Given the description of an element on the screen output the (x, y) to click on. 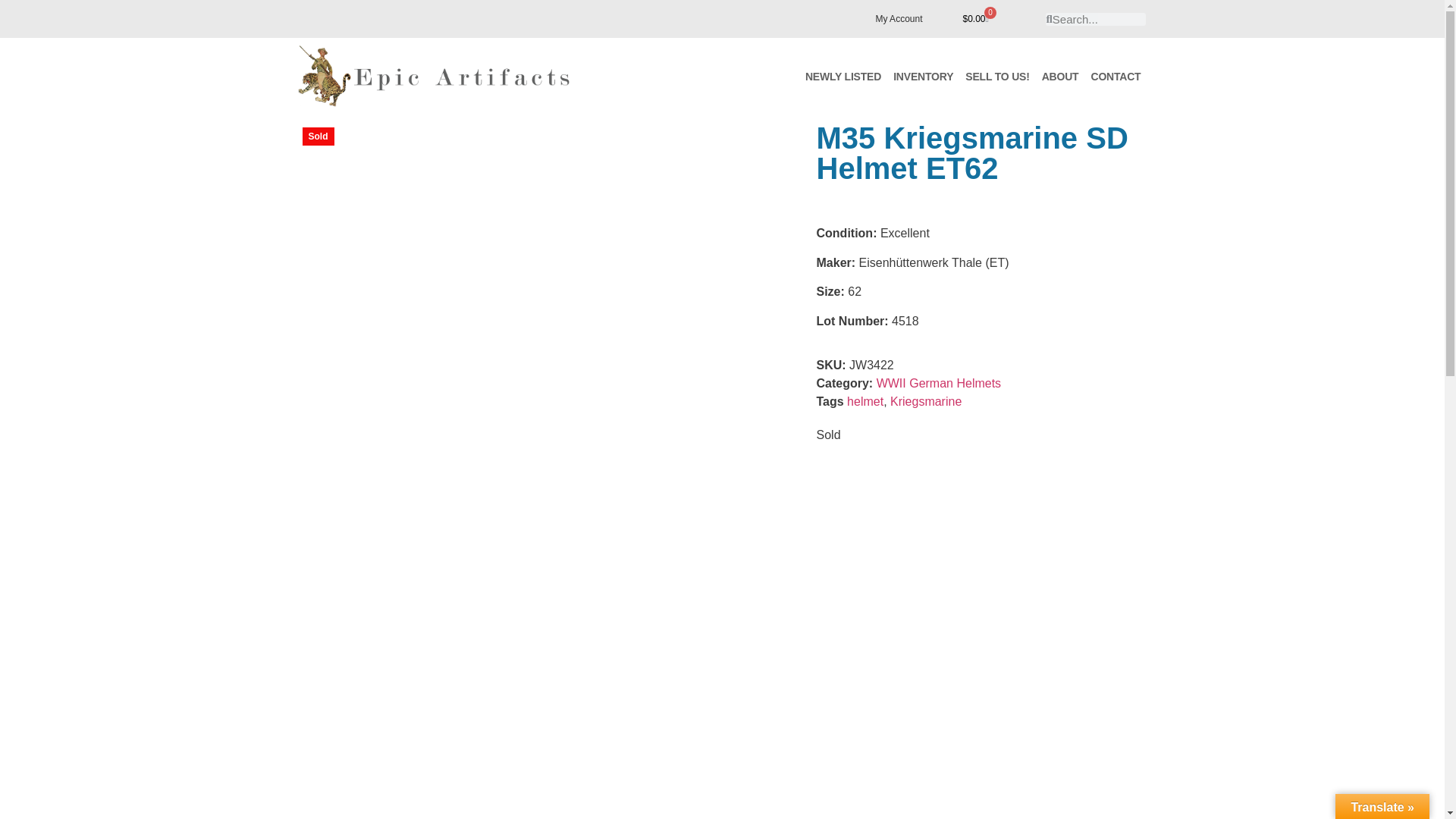
My Account (898, 18)
CONTACT (1115, 76)
SELL TO US! (997, 76)
INVENTORY (922, 76)
NEWLY LISTED (842, 76)
